Given the description of an element on the screen output the (x, y) to click on. 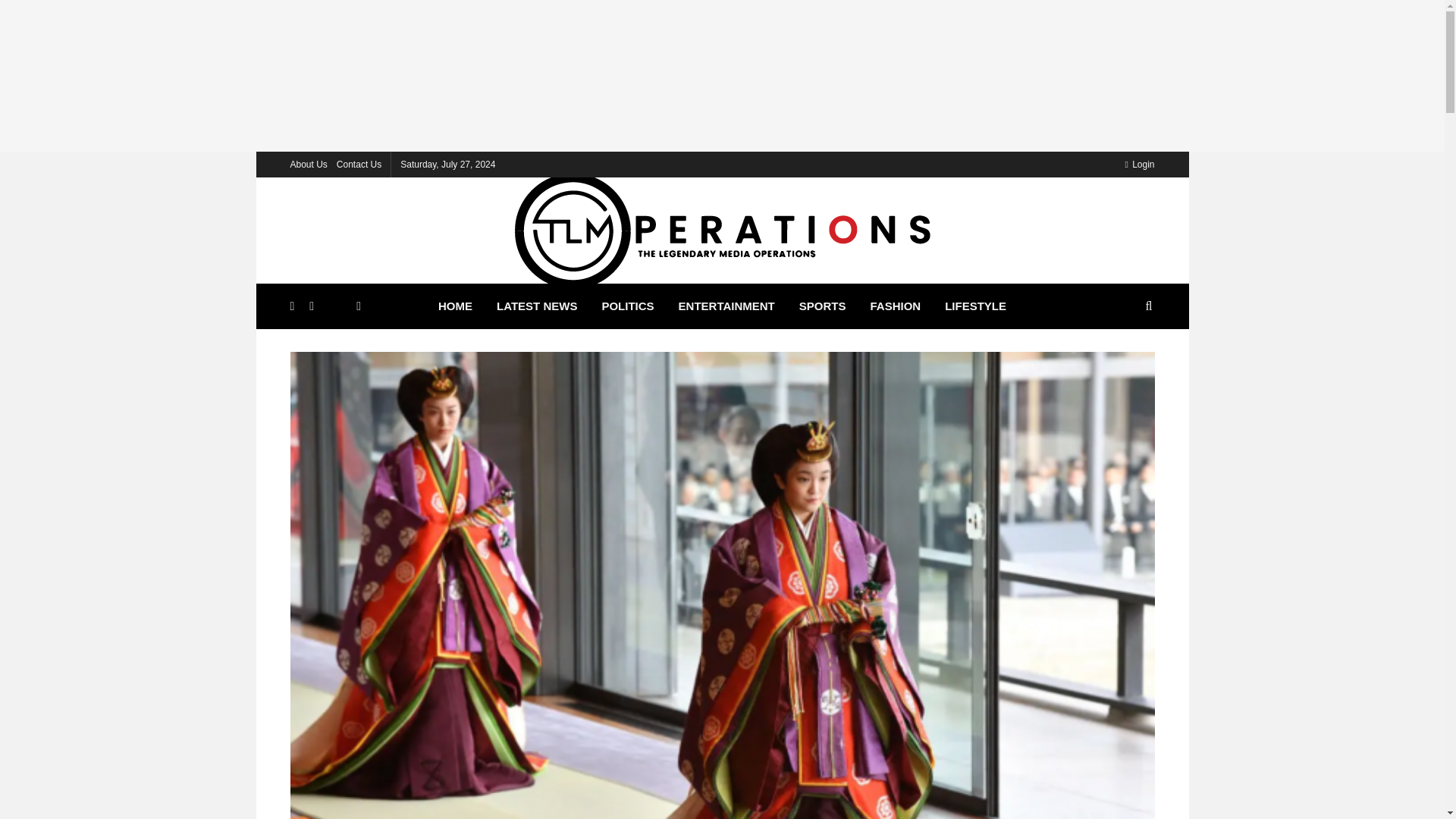
LIFESTYLE (975, 306)
Contact Us (358, 164)
ENTERTAINMENT (726, 306)
SPORTS (823, 306)
LATEST NEWS (536, 306)
HOME (455, 306)
Login (1139, 164)
POLITICS (627, 306)
About Us (307, 164)
FASHION (895, 306)
